Given the description of an element on the screen output the (x, y) to click on. 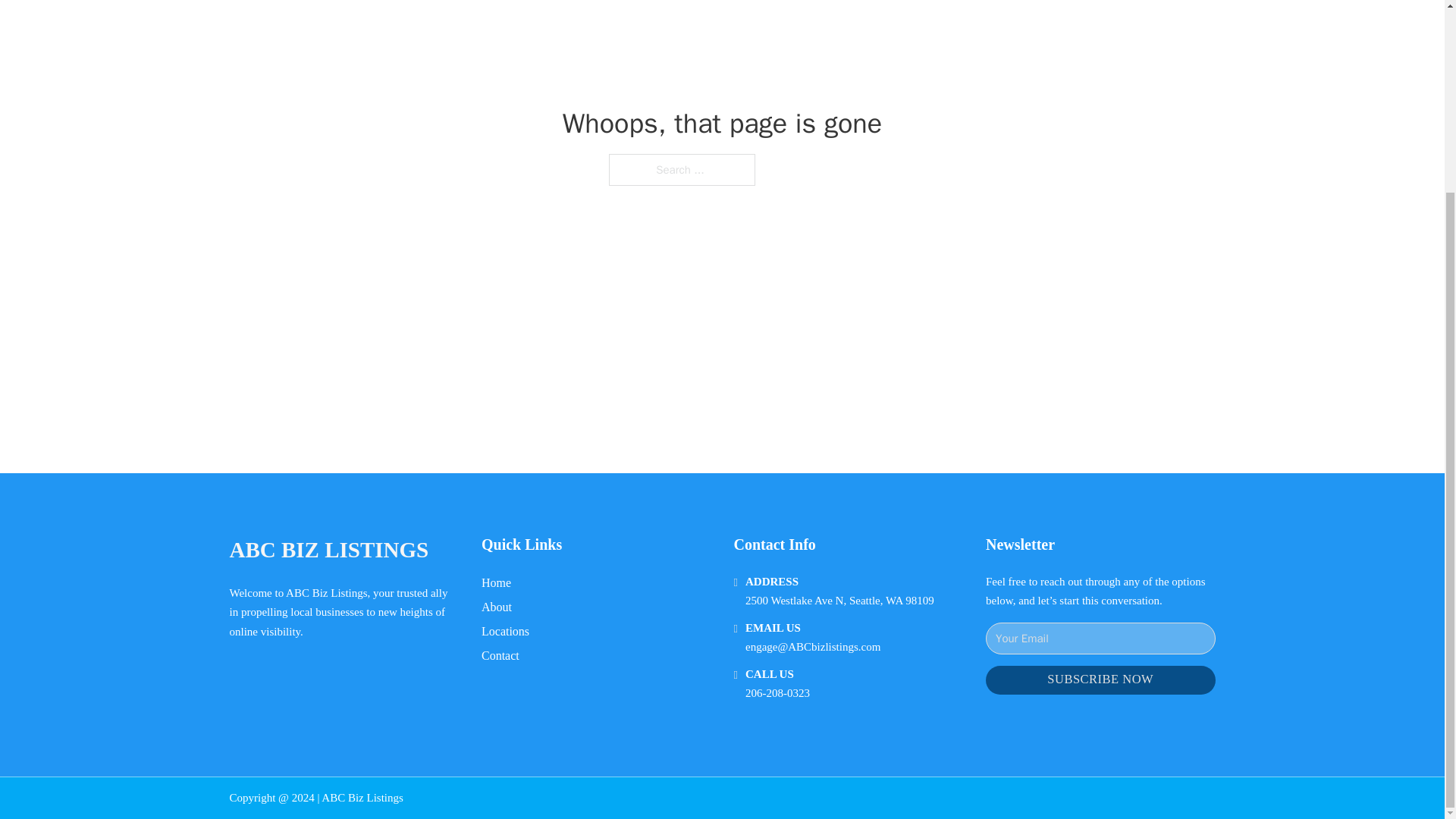
ABC BIZ LISTINGS (328, 549)
Locations (505, 630)
About (496, 607)
SUBSCRIBE NOW (1100, 680)
Home (496, 582)
Contact (500, 655)
206-208-0323 (777, 693)
